Given the description of an element on the screen output the (x, y) to click on. 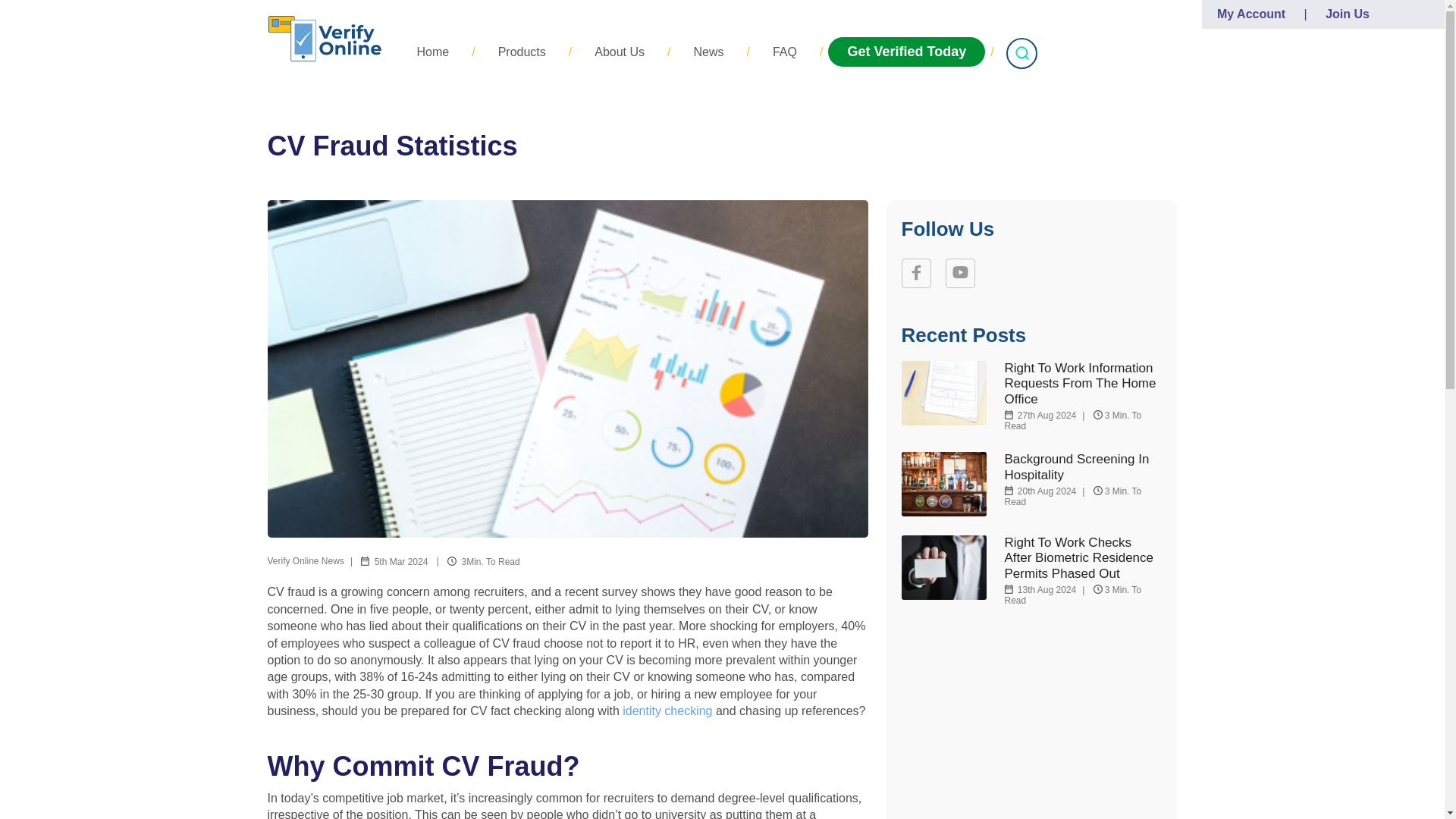
Get Verified Today (906, 51)
About Us (619, 51)
Home (432, 51)
Products (521, 51)
Join Us (1347, 14)
FAQ (784, 51)
Verify Online News (304, 560)
identity checking (667, 710)
News (708, 51)
My Account (1251, 14)
